Given the description of an element on the screen output the (x, y) to click on. 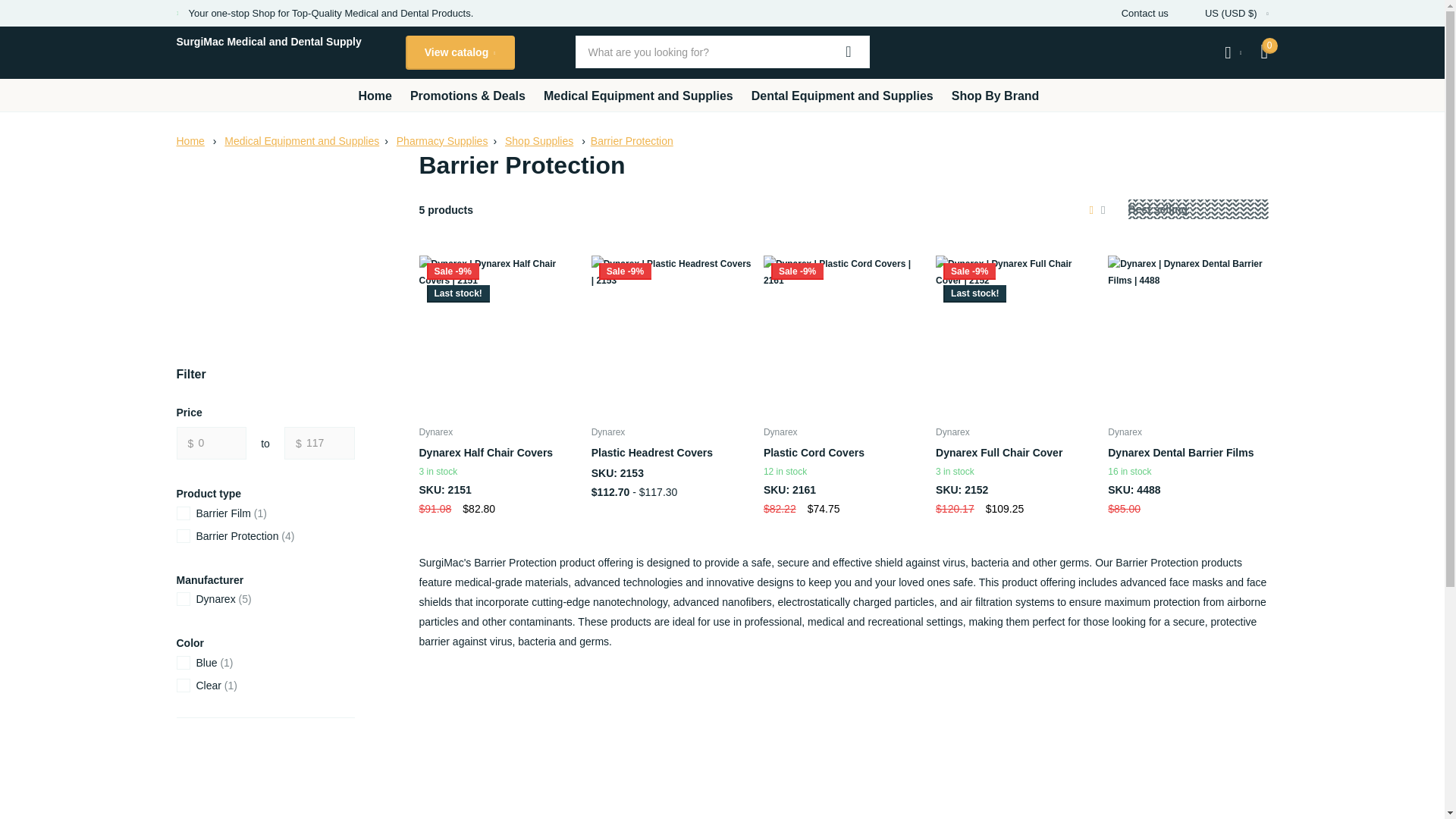
117 (319, 442)
Home (189, 141)
Medical Equipment and Supplies (301, 141)
Shop Supplies (539, 141)
0 (211, 442)
Pharmacy Supplies (441, 141)
Barrier Protection (631, 141)
Zoeken (848, 50)
View catalog (458, 52)
Contact us (1145, 13)
